Given the description of an element on the screen output the (x, y) to click on. 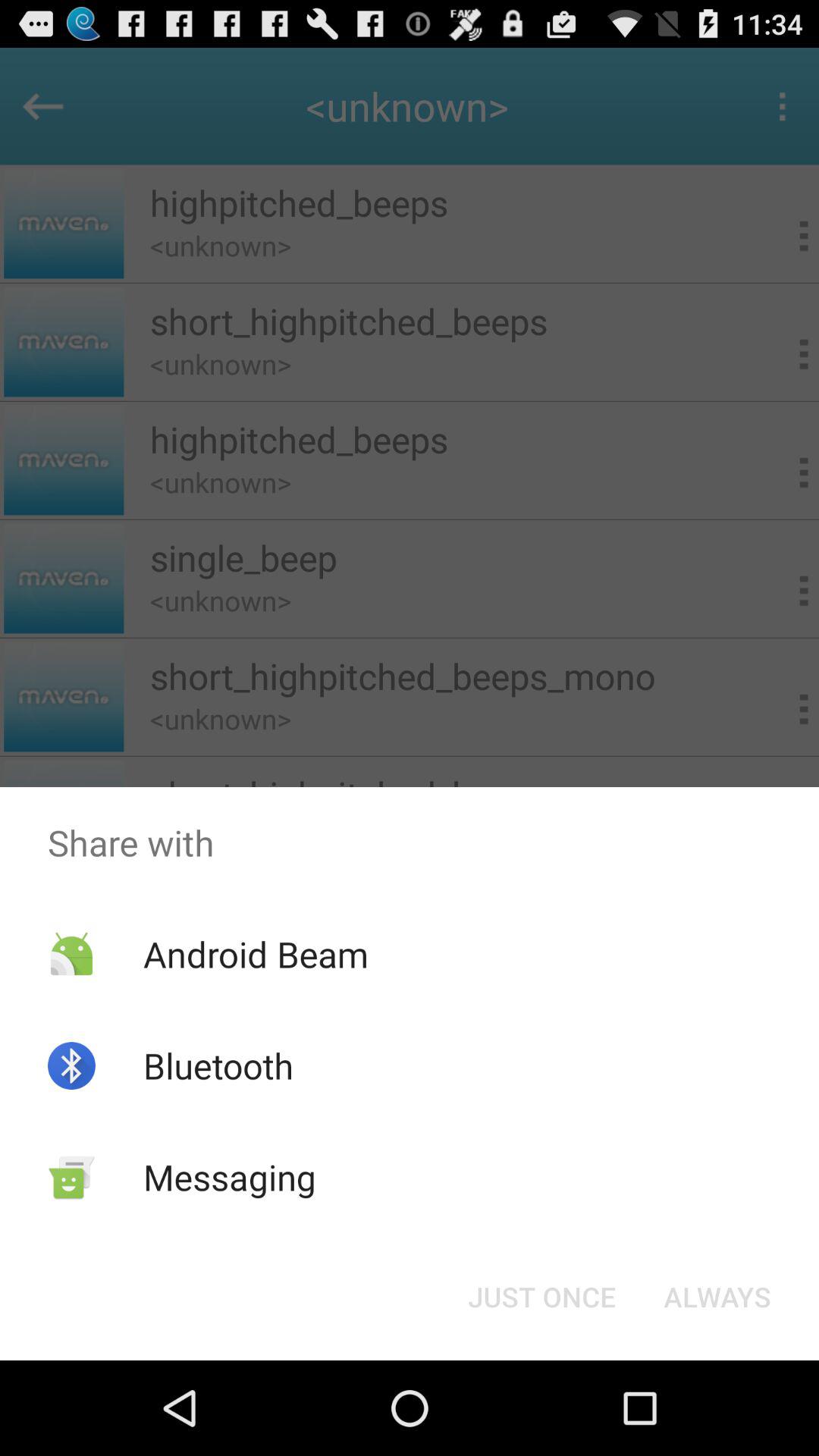
turn on button next to always (541, 1296)
